Given the description of an element on the screen output the (x, y) to click on. 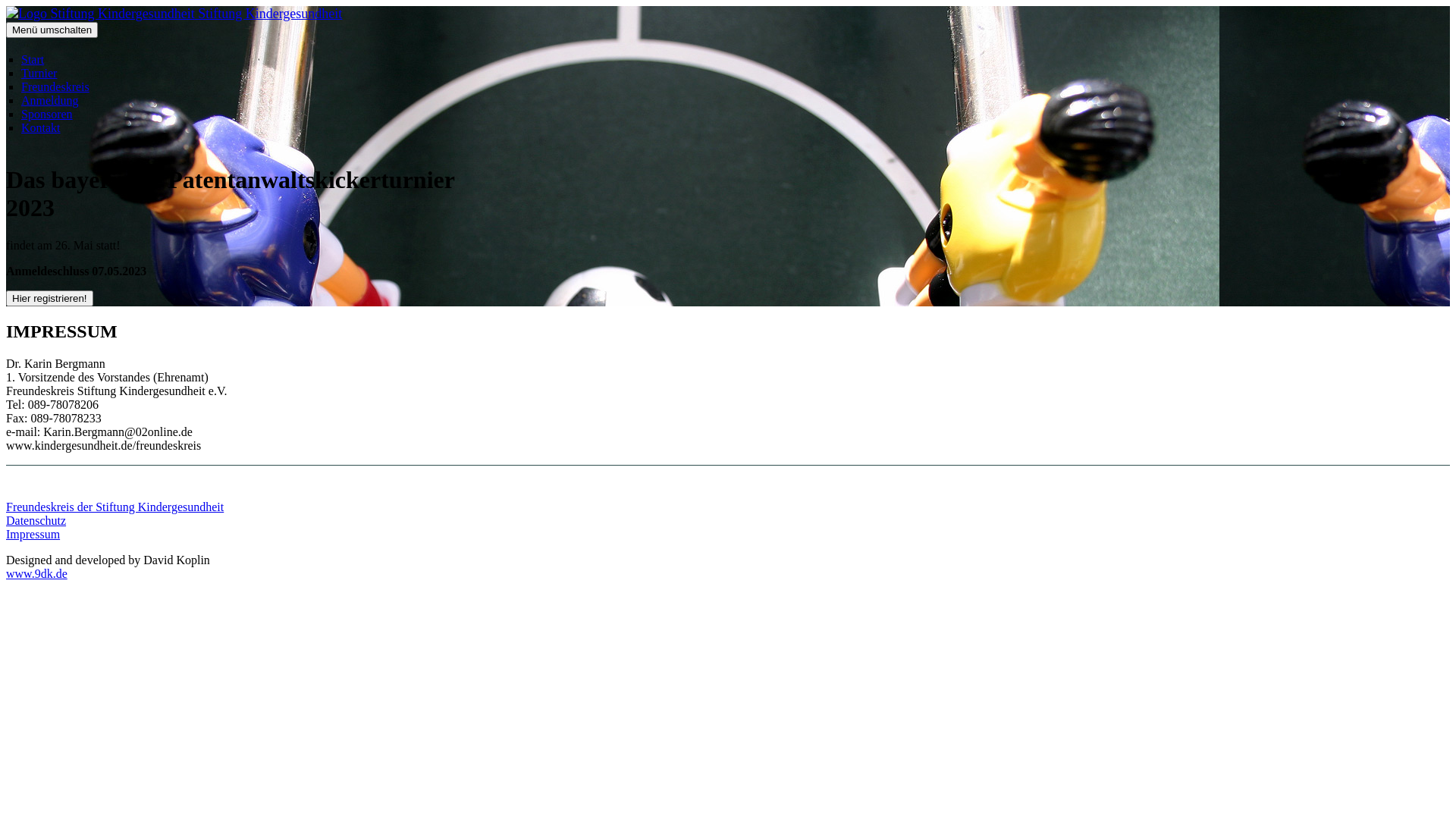
Turnier Element type: text (38, 72)
Start Element type: text (32, 59)
Sponsoren Element type: text (46, 113)
Impressum Element type: text (32, 533)
Hier registrieren! Element type: text (49, 298)
Kontakt Element type: text (40, 127)
Hier registrieren! Element type: text (49, 297)
Stiftung Kindergesundheit Element type: text (174, 13)
Freundeskreis der Stiftung Kindergesundheit Element type: text (114, 506)
Datenschutz Element type: text (35, 520)
www.9dk.de Element type: text (36, 573)
Freundeskreis Element type: text (55, 86)
Anmeldung Element type: text (49, 100)
